Given the description of an element on the screen output the (x, y) to click on. 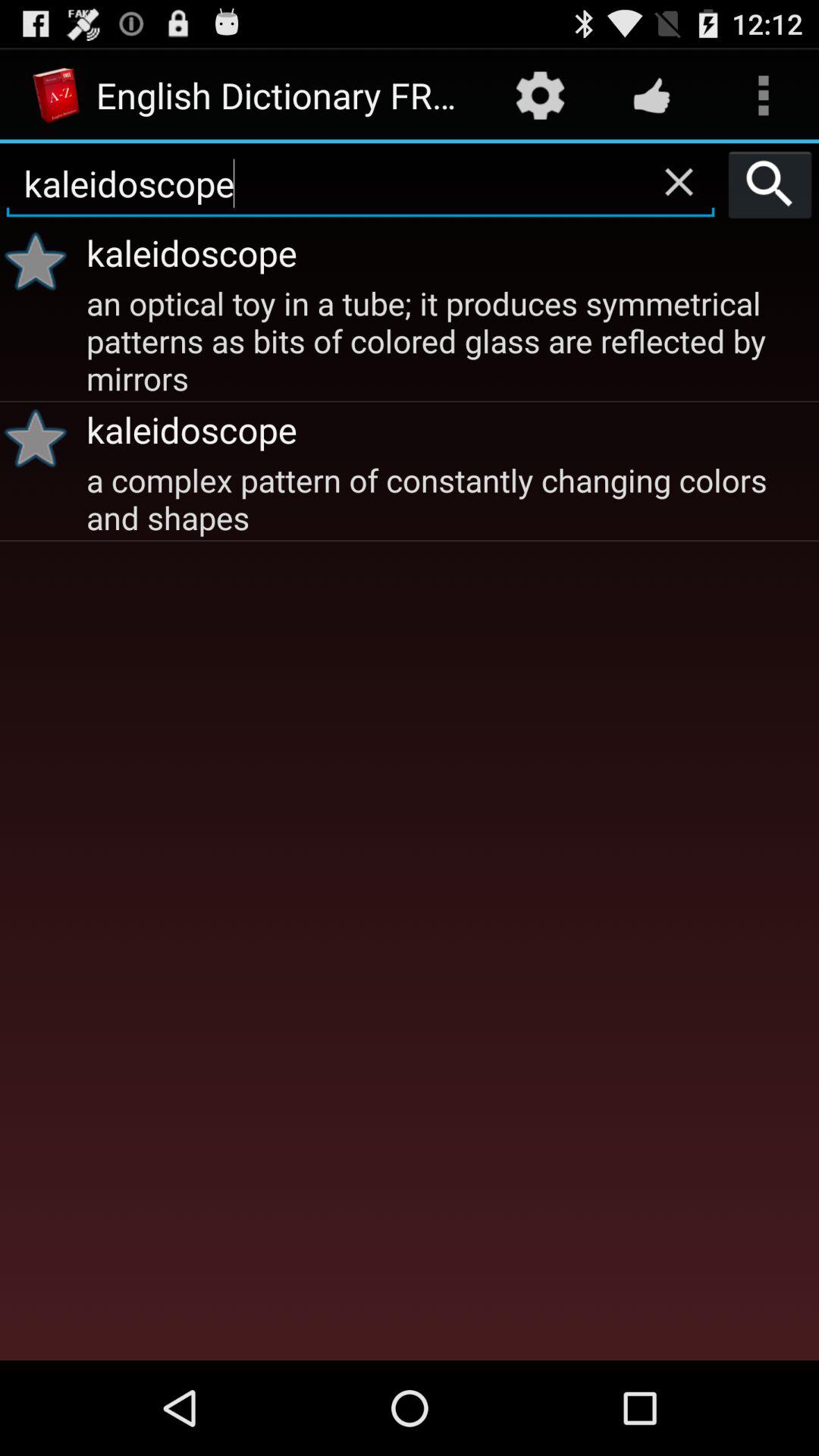
choose a complex pattern icon (451, 497)
